Given the description of an element on the screen output the (x, y) to click on. 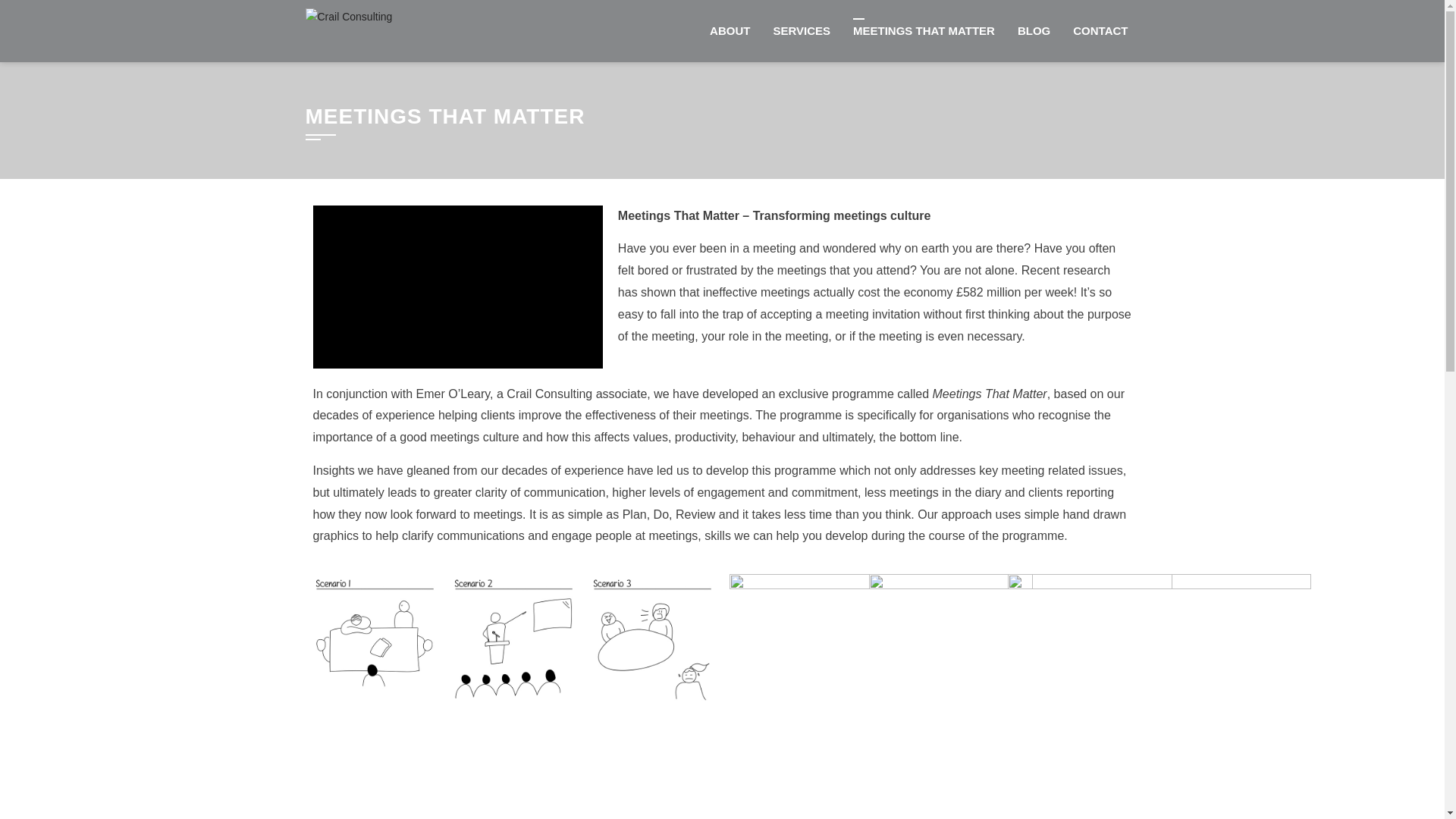
CONTACT (1099, 31)
SERVICES (801, 31)
ABOUT (729, 31)
BLOG (1033, 31)
MEETINGS THAT MATTER (923, 31)
Search (32, 13)
vimeo Video Player (457, 286)
